Given the description of an element on the screen output the (x, y) to click on. 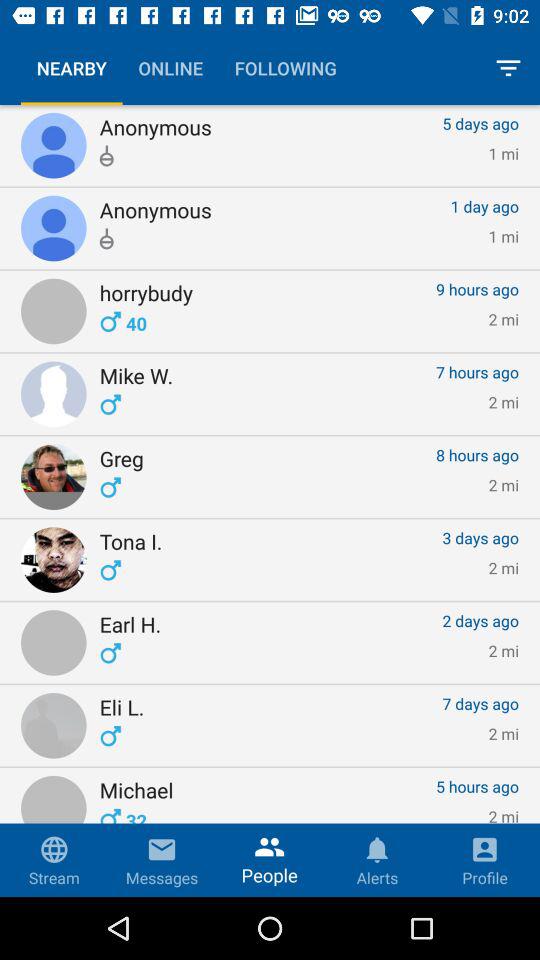
click on profile (484, 859)
select the elil option which is the 8th option in the nearby list (53, 726)
